Given the description of an element on the screen output the (x, y) to click on. 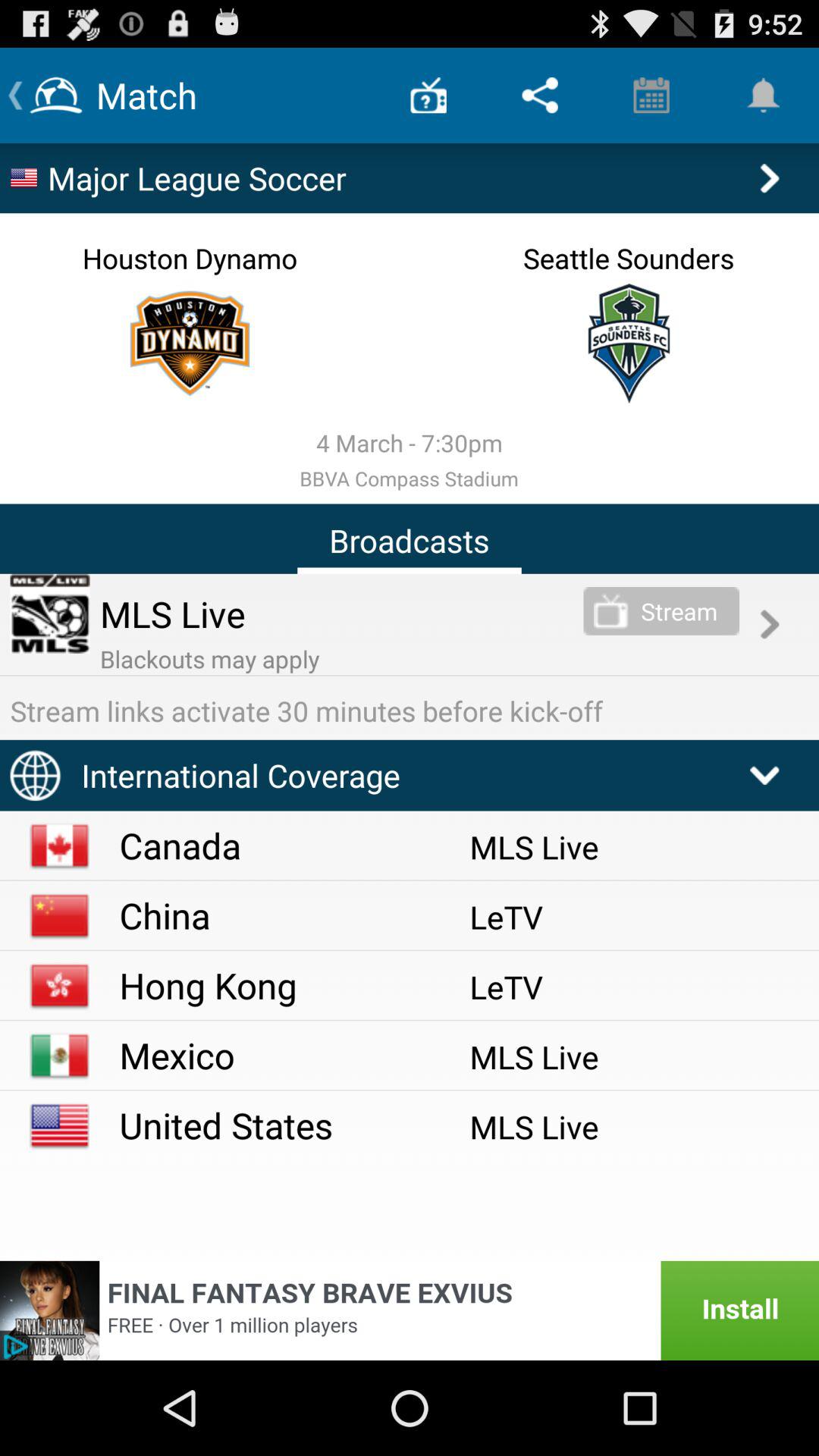
install game (409, 1310)
